Given the description of an element on the screen output the (x, y) to click on. 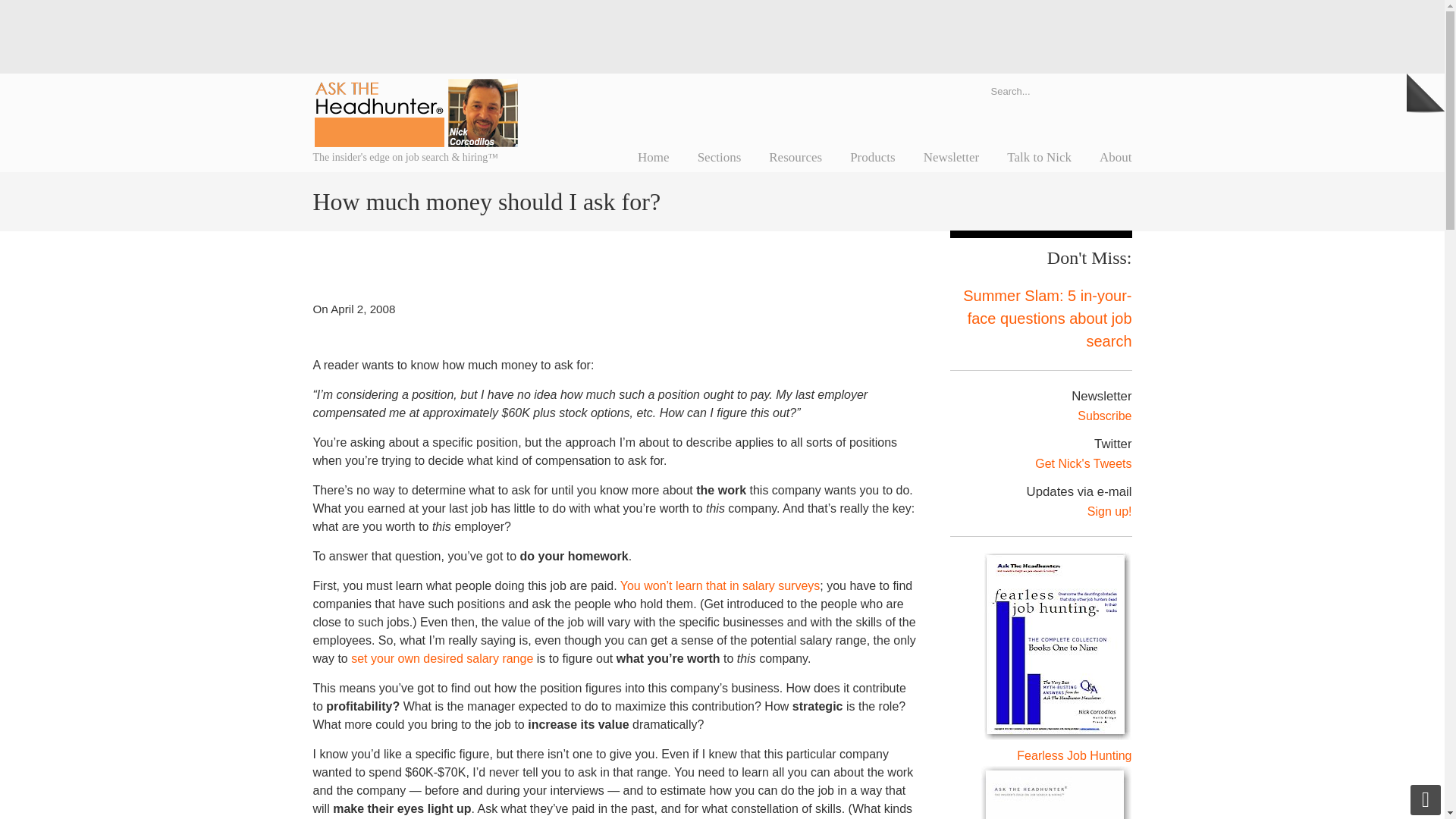
search (1115, 90)
Advertisement (721, 33)
Talk to Nick (1038, 157)
Home (653, 157)
How to decide how much you want (441, 658)
About (1115, 157)
Newsletter (951, 157)
Search... (1039, 90)
Salary surveys: Know when to fold 'em (720, 585)
search (1115, 90)
search (1115, 90)
Products (872, 157)
Sections (719, 157)
Resources (795, 157)
set your own desired salary range (441, 658)
